Given the description of an element on the screen output the (x, y) to click on. 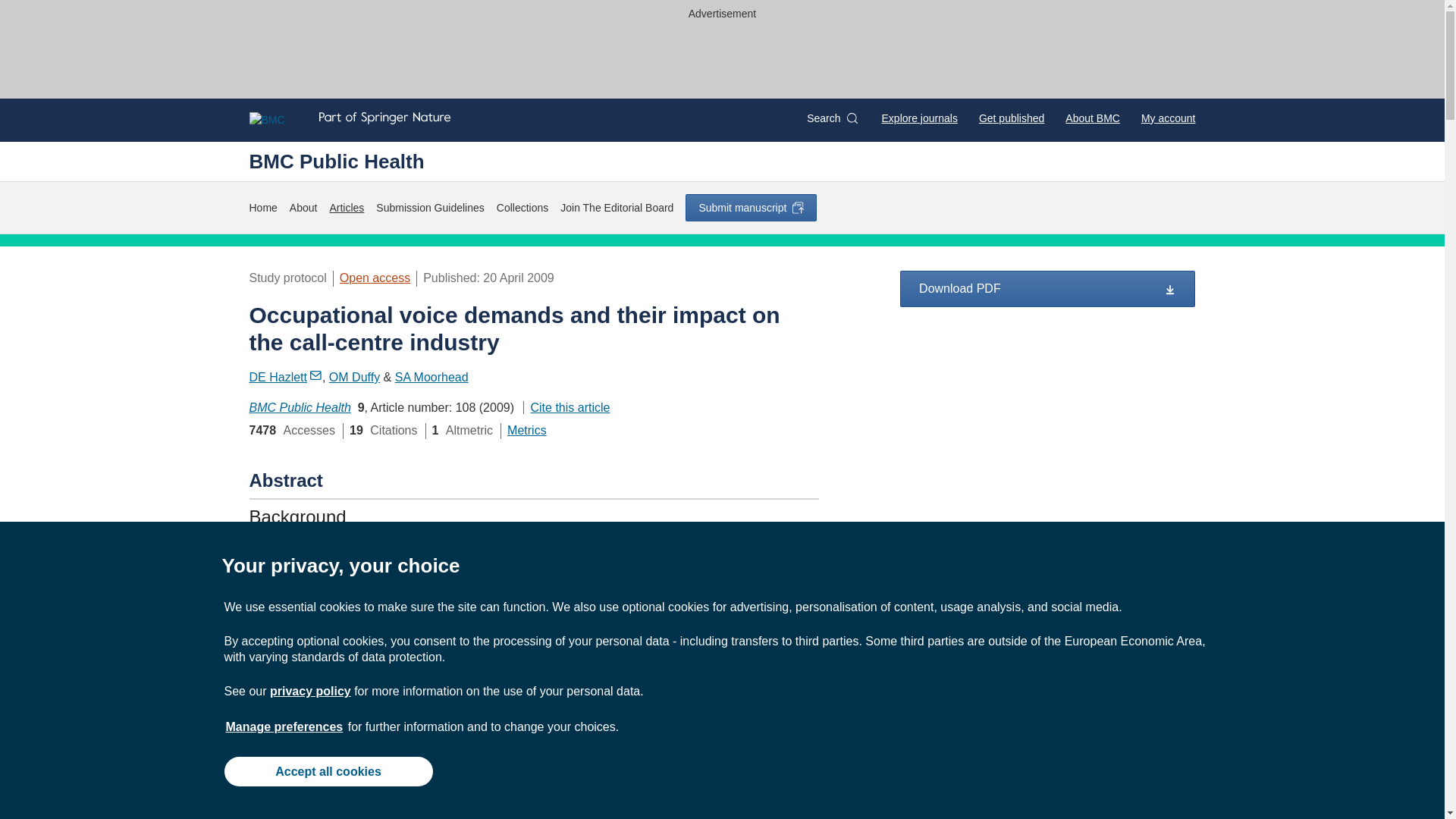
privacy policy (309, 690)
Manage preferences (284, 726)
Get published (1010, 118)
Join The Editorial Board (616, 208)
Submit manuscript (750, 207)
BMC Public Health (299, 407)
Home (262, 208)
Metrics (526, 430)
Articles (346, 208)
Cite this article (566, 407)
Explore journals (920, 118)
Accept all cookies (328, 771)
My account (1168, 118)
Open access (374, 277)
Collections (522, 208)
